Given the description of an element on the screen output the (x, y) to click on. 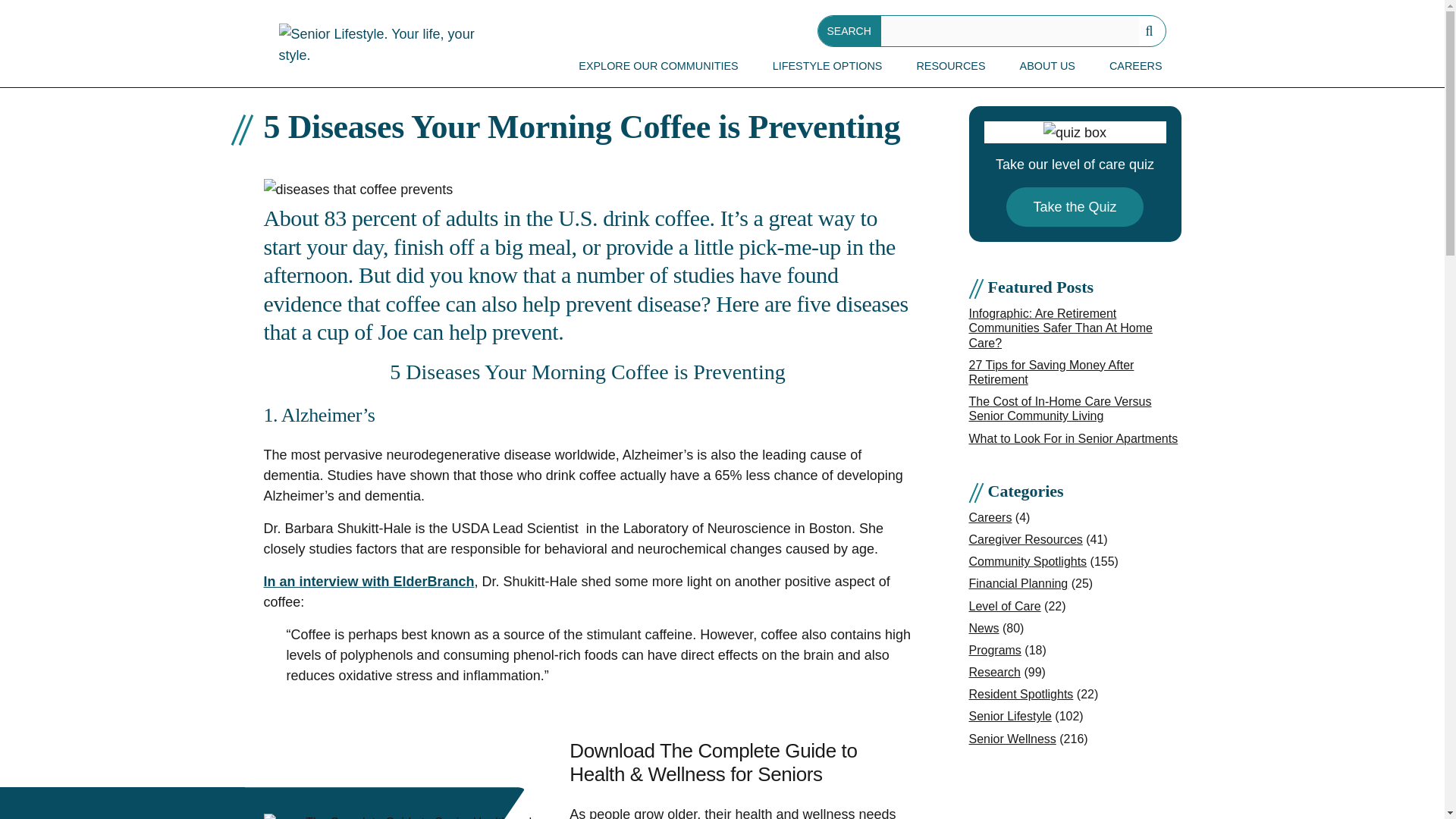
In an interview with ElderBranch (368, 581)
CAREERS (1135, 66)
LIFESTYLE OPTIONS (827, 66)
RESOURCES (950, 66)
EXPLORE OUR COMMUNITIES (657, 66)
ABOUT US (1047, 66)
